Given the description of an element on the screen output the (x, y) to click on. 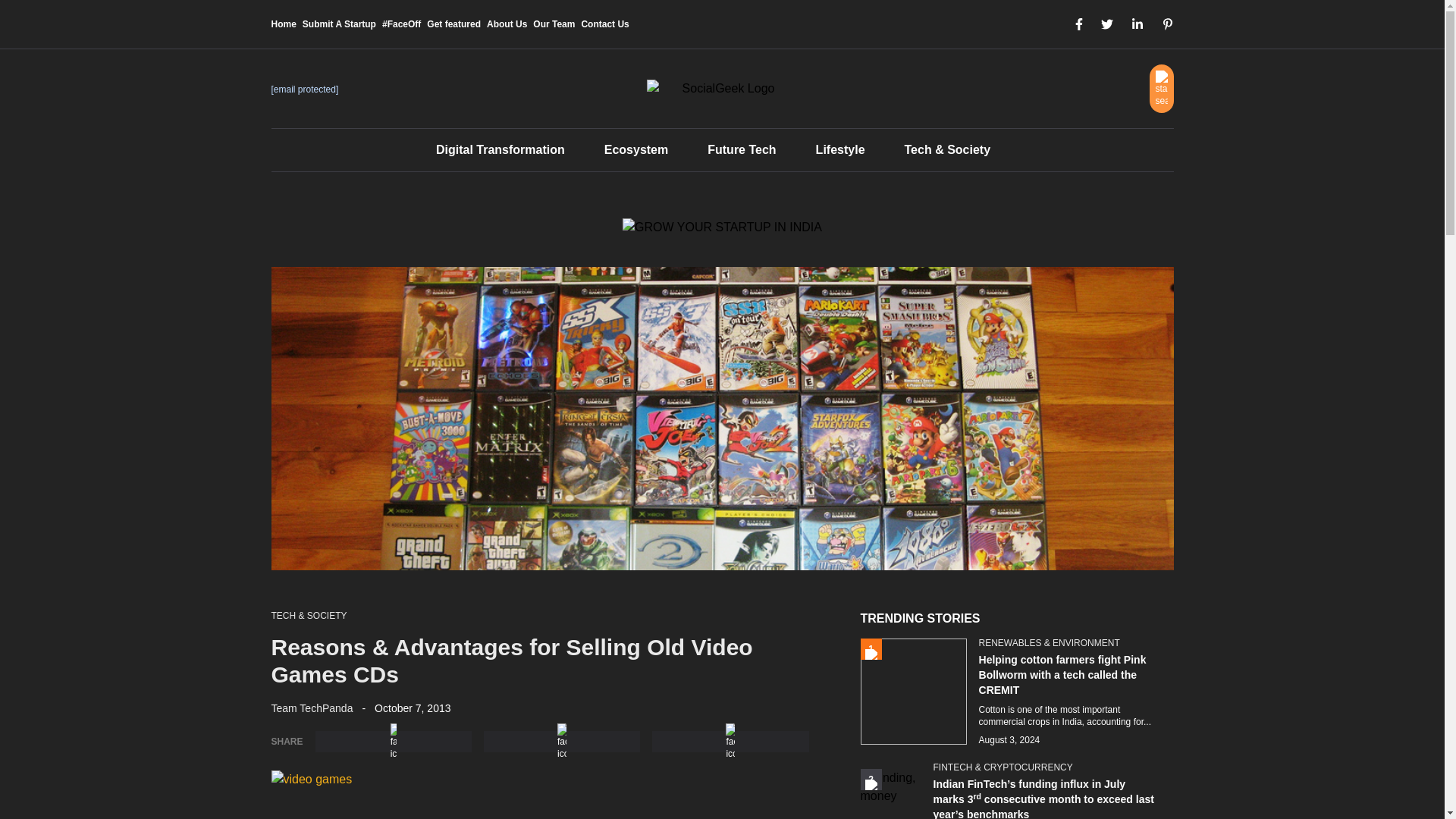
Home (283, 24)
Submit A Startup (338, 24)
Contact Us (604, 24)
Future Tech (741, 150)
Lifestyle (839, 150)
Ecosystem (636, 150)
About Us (506, 24)
Get featured (453, 24)
Digital Transformation (499, 150)
Our Team (553, 24)
